Given the description of an element on the screen output the (x, y) to click on. 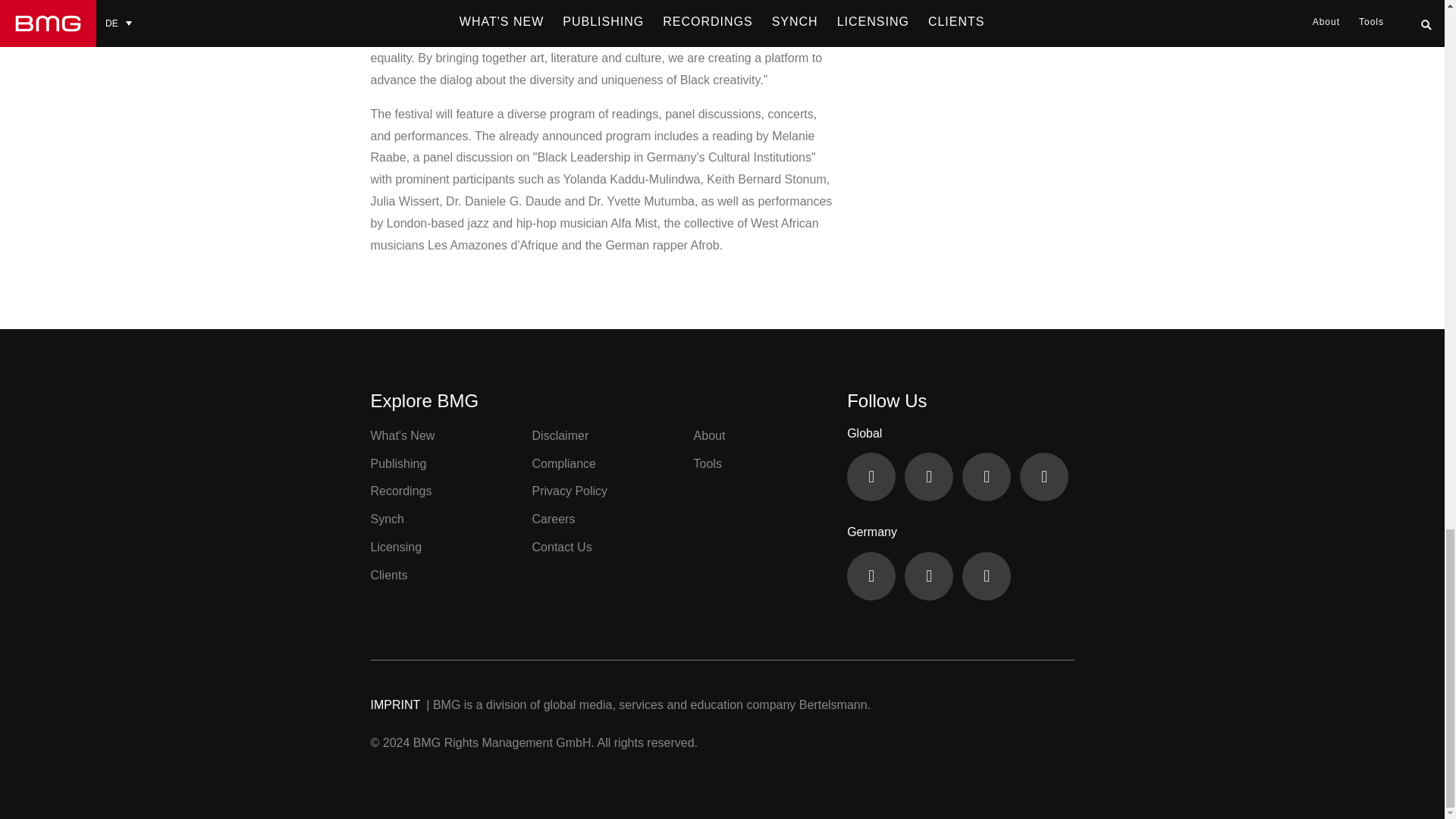
Facebook (871, 576)
Contact Us (562, 546)
Facebook (871, 476)
Recordings (399, 490)
Disclaimer (560, 435)
Privacy Policy (570, 490)
Licensing (395, 546)
x.com (986, 476)
What's New (401, 435)
Youtube (928, 476)
Compliance (563, 463)
Careers (553, 518)
Synch (386, 518)
Clients (388, 574)
Instagram (986, 576)
